Given the description of an element on the screen output the (x, y) to click on. 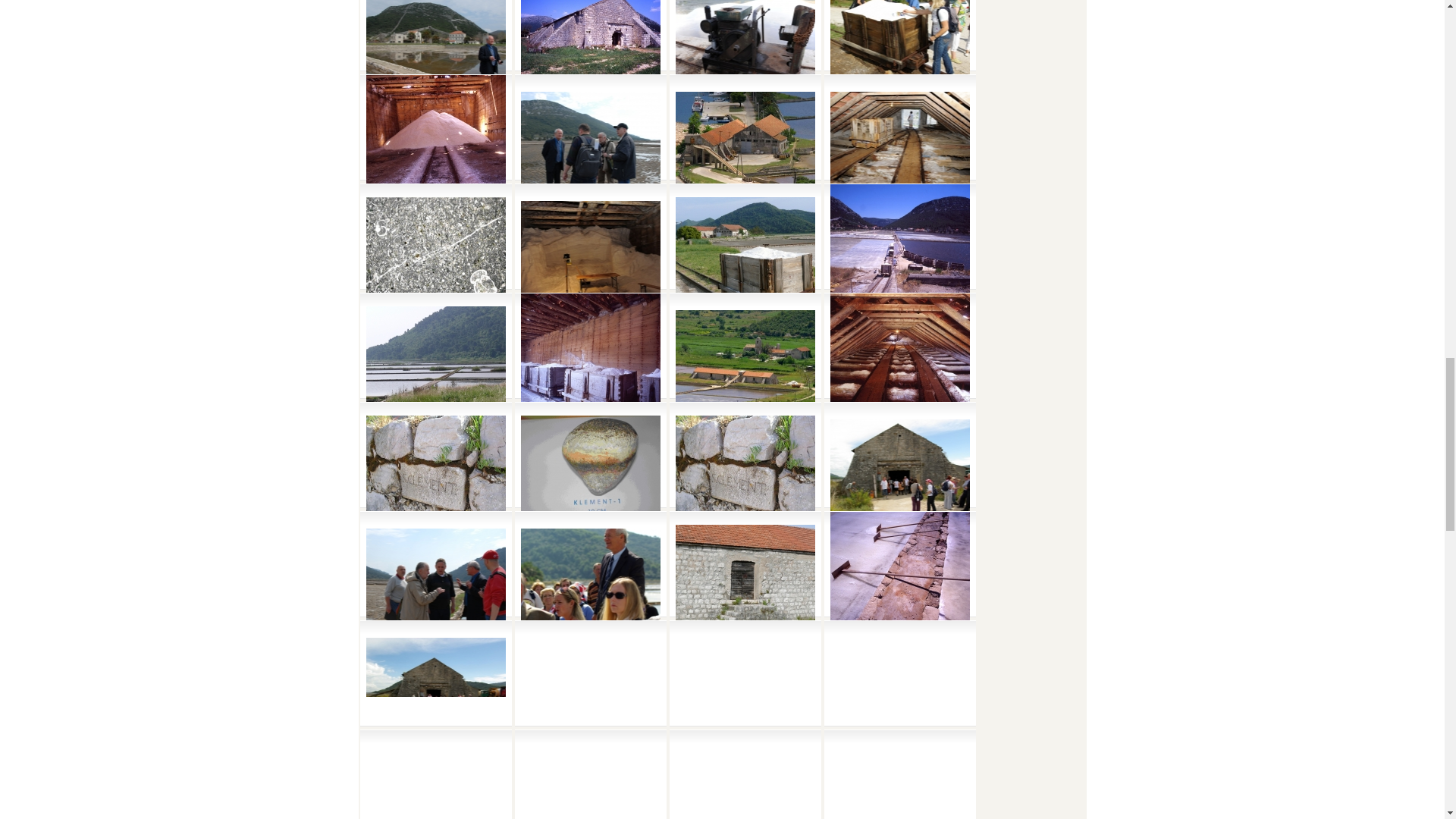
Click to enlarge image 1.jpg (744, 52)
Click to enlarge image 13.jpg (899, 52)
Click to enlarge image 9.jpg (435, 52)
Click to enlarge image 39.jpg (589, 52)
Click to enlarge image 33.jpg (435, 144)
